Given the description of an element on the screen output the (x, y) to click on. 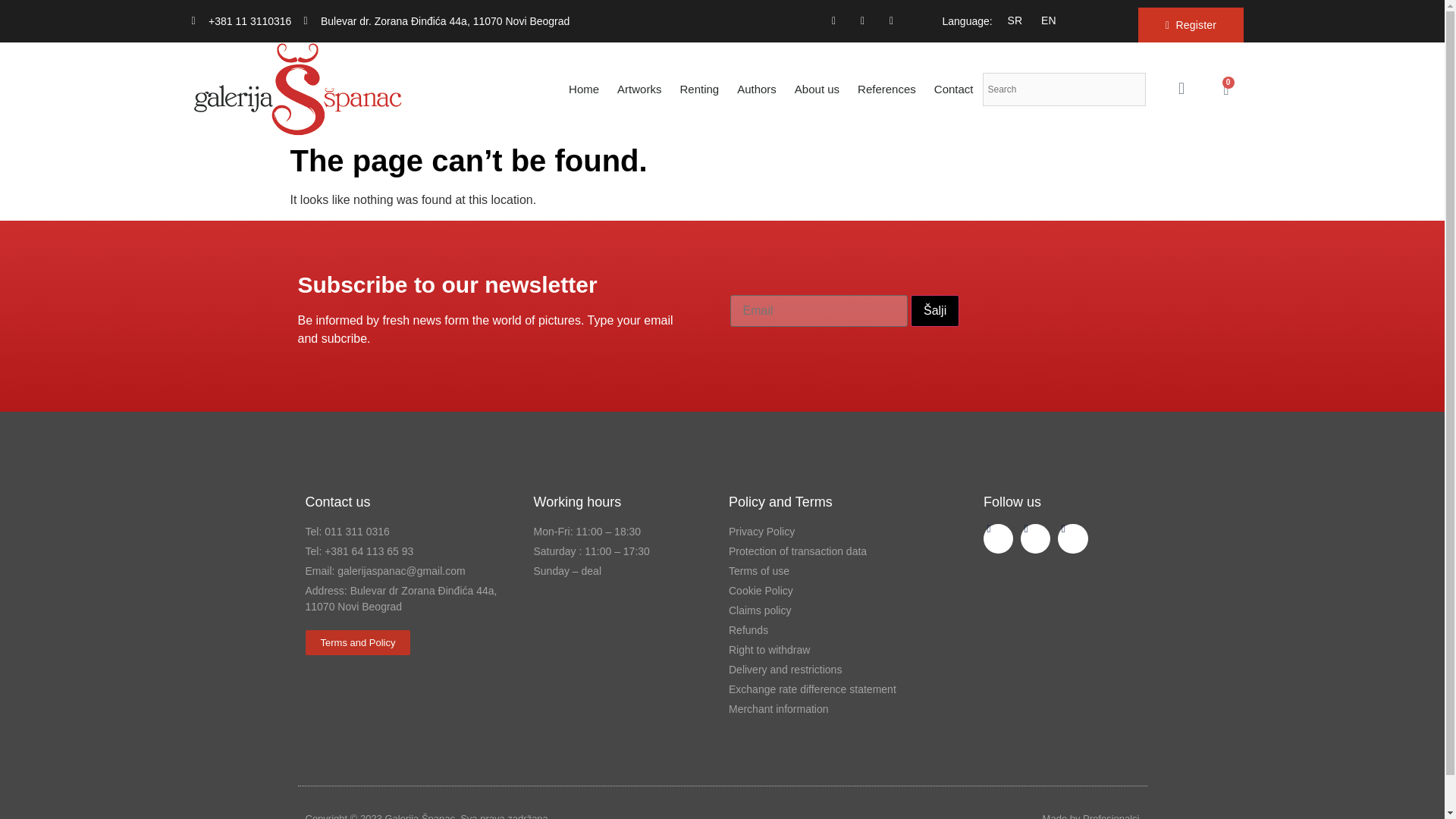
Delivery and restrictions (827, 669)
Right to withdraw (827, 650)
Exchange rate difference statement (827, 689)
EN (1044, 19)
Home (583, 89)
Privacy Policy (827, 531)
Artworks (638, 89)
Terms and Policy (357, 642)
Renting (698, 89)
Register (1190, 24)
